Given the description of an element on the screen output the (x, y) to click on. 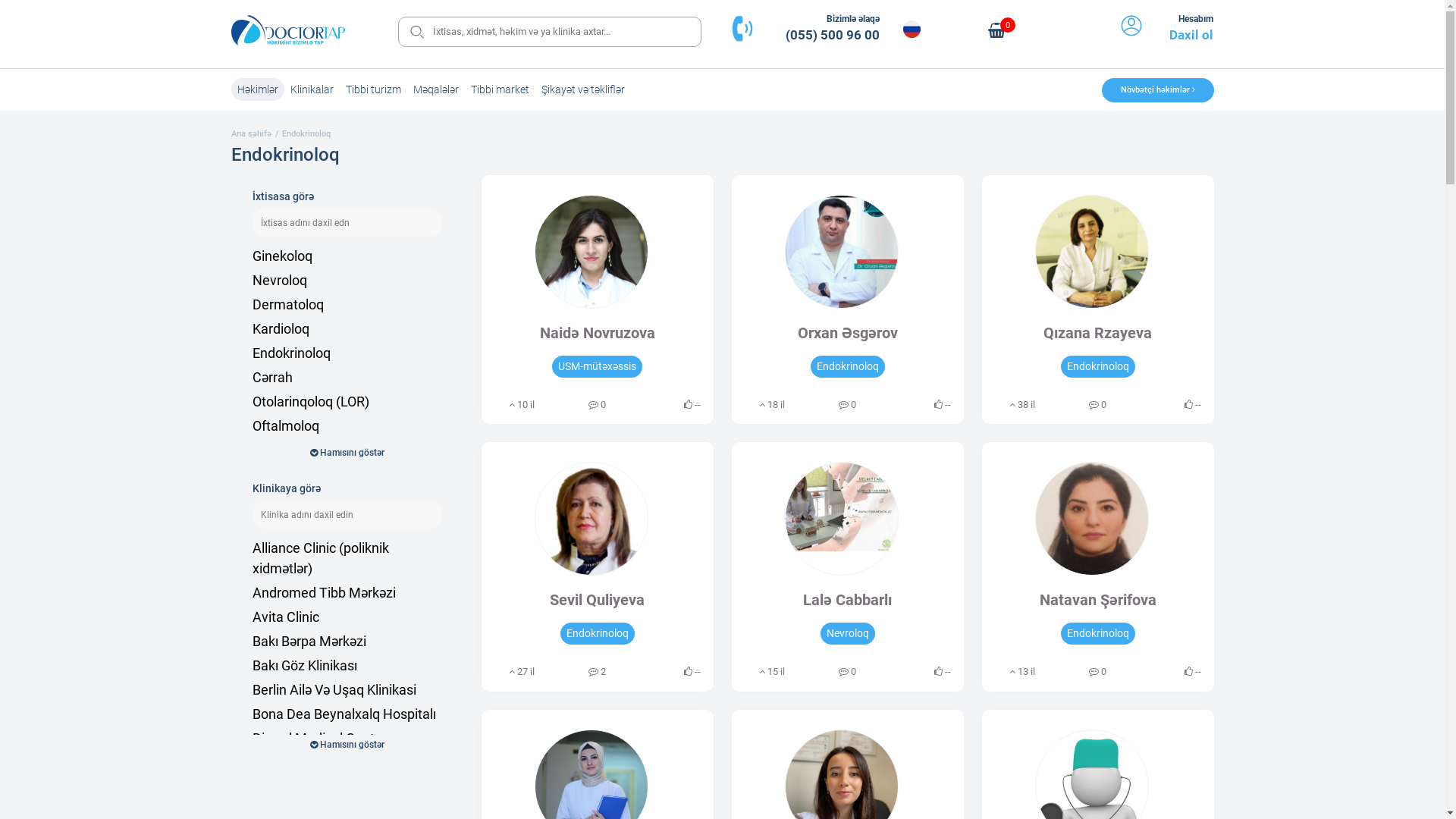
Tibbi turizm Element type: text (373, 89)
Klinikalar Element type: text (310, 89)
Kardioloq Element type: text (346, 328)
Dimed Medical Center Element type: text (346, 738)
Ginekoloq Element type: text (346, 255)
Sevil Quliyeva
Endokrinoloq
27 il
2
-- Element type: text (596, 566)
Oftalmoloq Element type: text (346, 425)
Avita Clinic Element type: text (346, 616)
Otolarinqoloq (LOR) Element type: text (346, 401)
Endokrinoloq Element type: text (306, 133)
Dermatoloq Element type: text (346, 304)
0 Element type: text (996, 37)
Daxil ol Element type: text (1191, 34)
Nevroloq Element type: text (346, 279)
Uroloq Element type: text (346, 449)
Tibbi market Element type: text (499, 89)
Endokrinoloq Element type: text (346, 352)
